Given the description of an element on the screen output the (x, y) to click on. 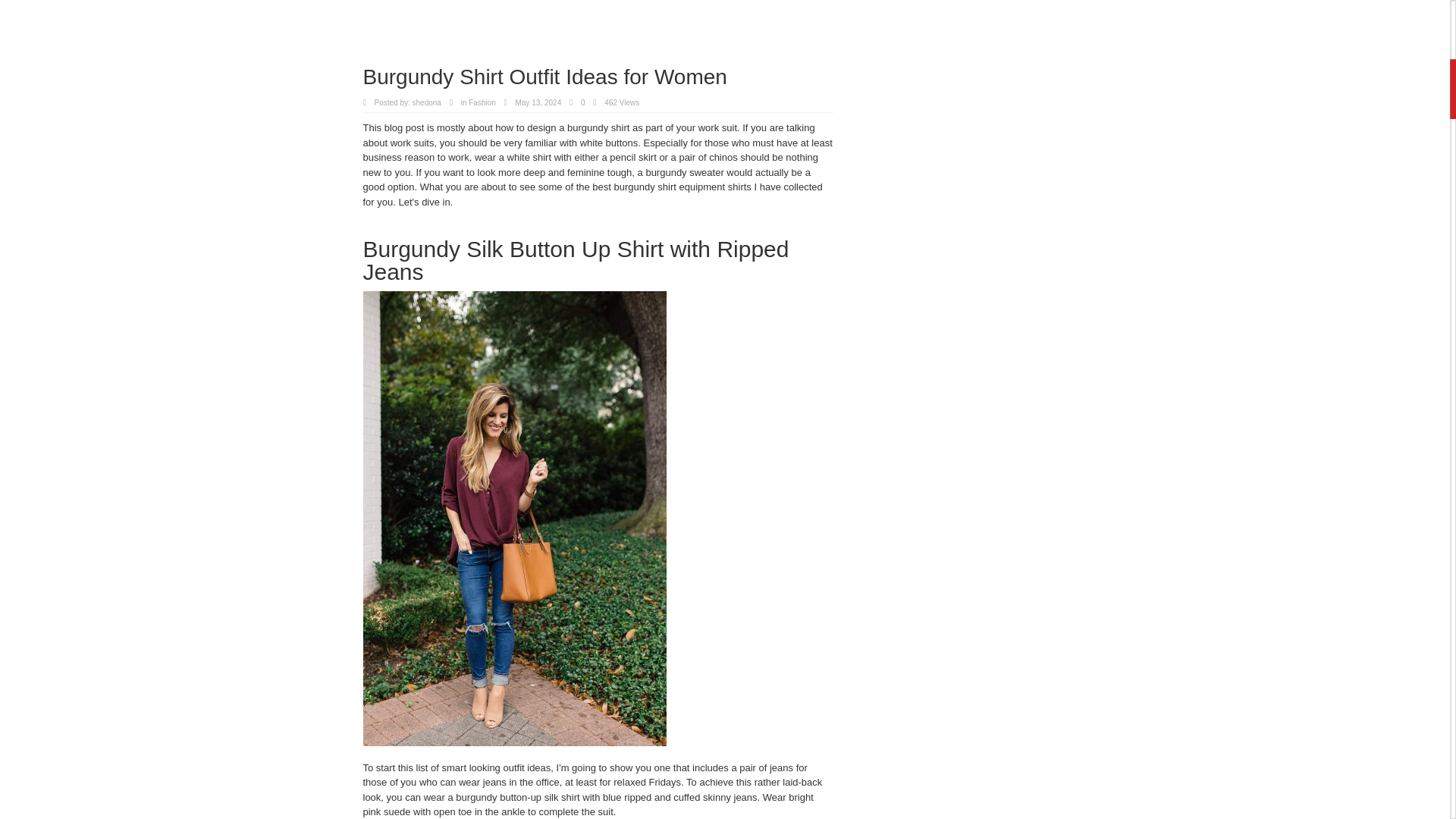
shedona (426, 102)
0 (582, 102)
Advertisement (597, 32)
Fashion (482, 102)
